Given the description of an element on the screen output the (x, y) to click on. 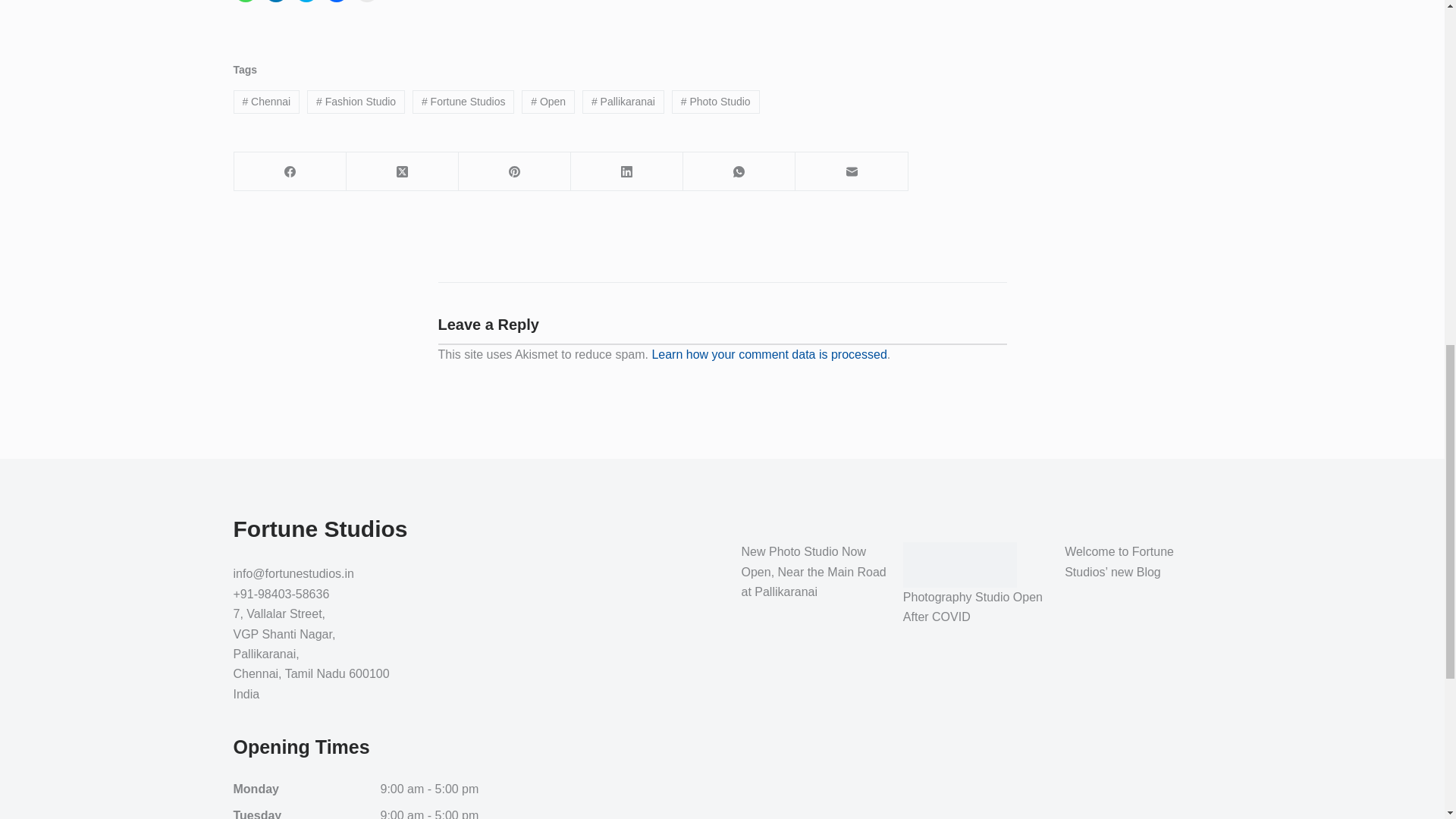
Click to share on WhatsApp (244, 1)
Click to share on Facebook (336, 1)
Click to share on LinkedIn (275, 1)
Click to email a link to a friend (366, 1)
Click to share on Twitter (306, 1)
